Given the description of an element on the screen output the (x, y) to click on. 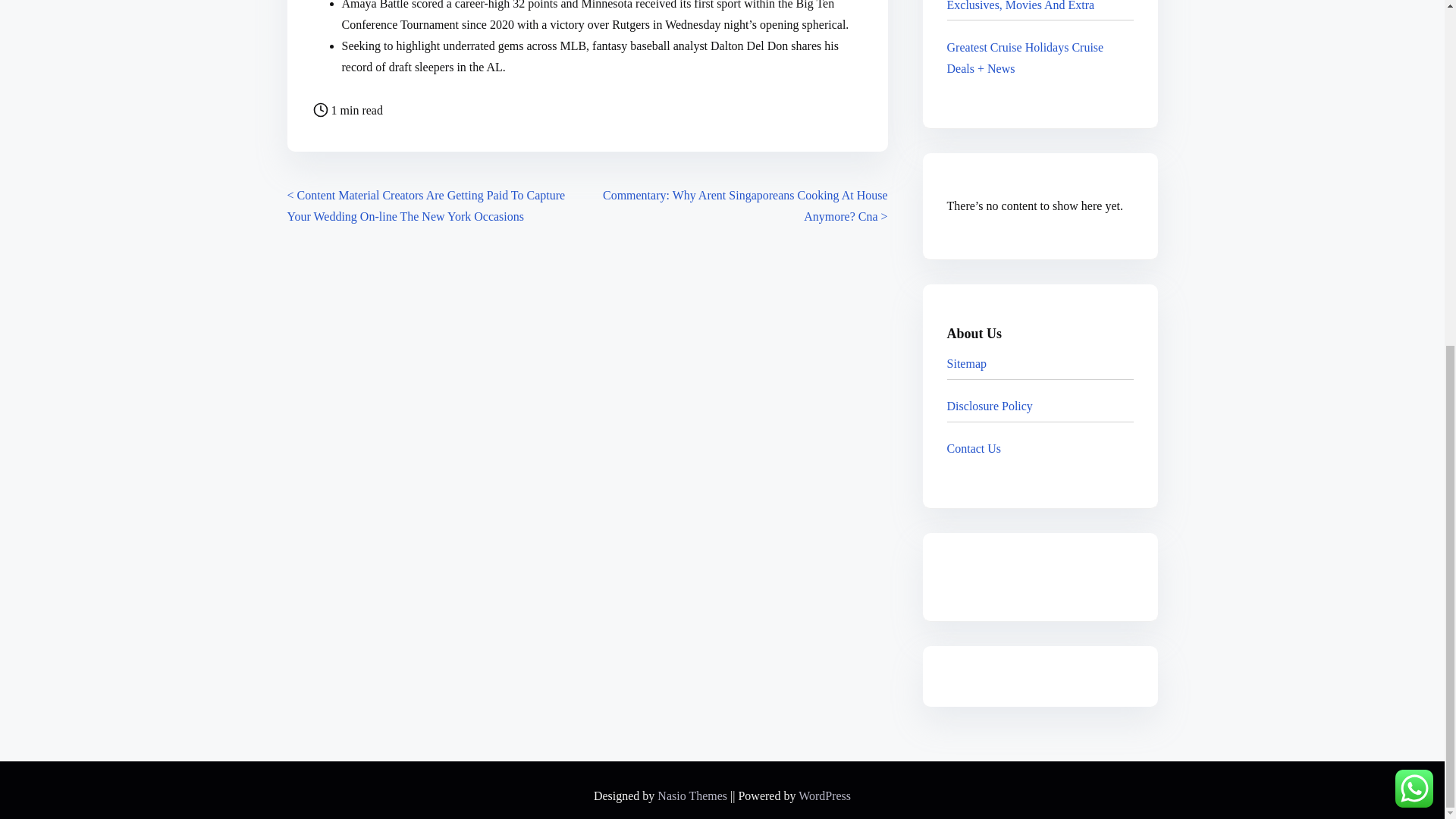
Contact Us (974, 448)
Nasio Themes (694, 795)
Sitemap (967, 363)
Disclosure Policy (989, 405)
WordPress (823, 795)
